Given the description of an element on the screen output the (x, y) to click on. 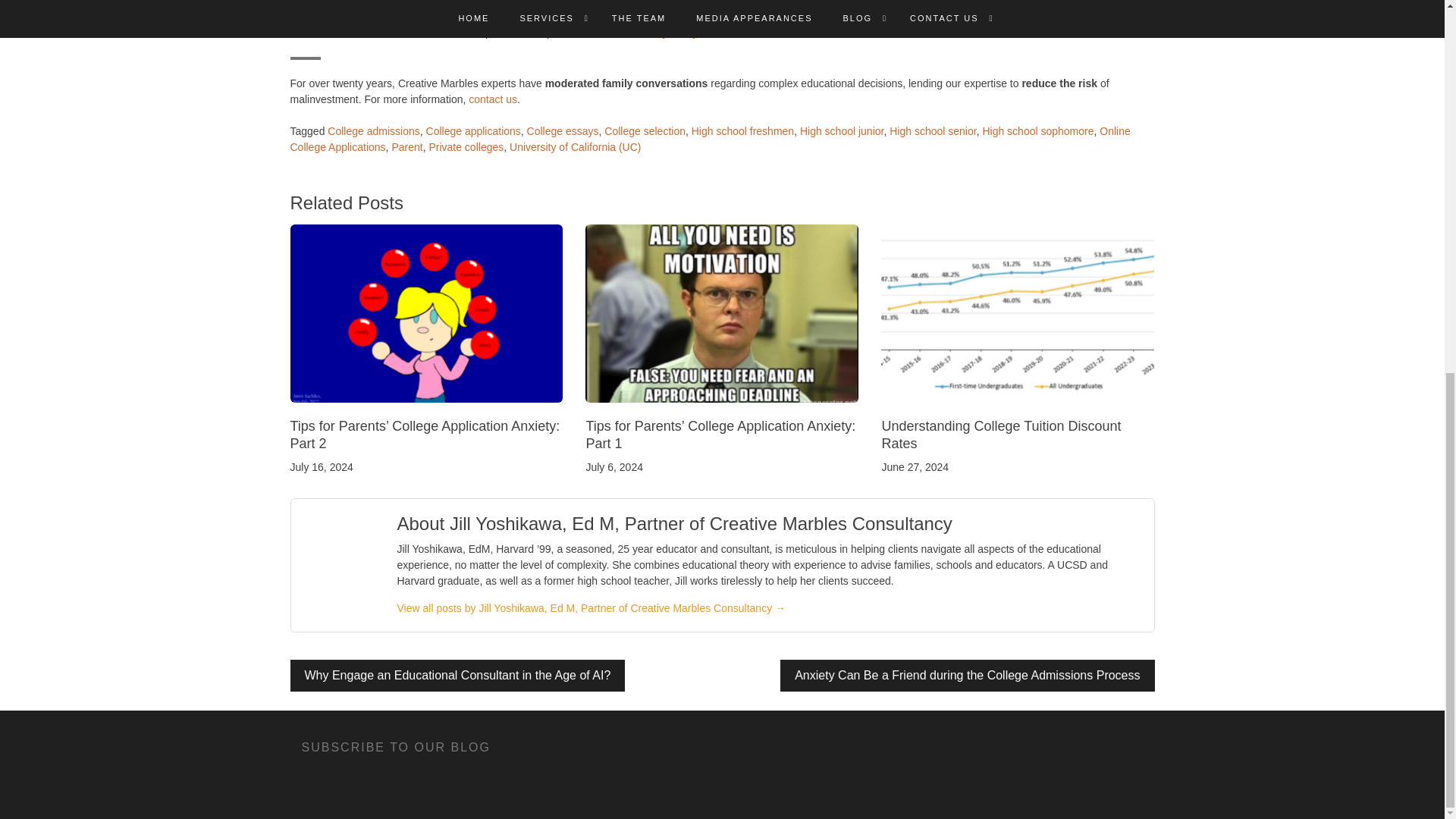
College admissions (373, 131)
College applications (473, 131)
College essays (562, 131)
educational journey with confidence (689, 32)
strategy (612, 3)
objective, experienced guides (388, 3)
contact us (492, 99)
